Given the description of an element on the screen output the (x, y) to click on. 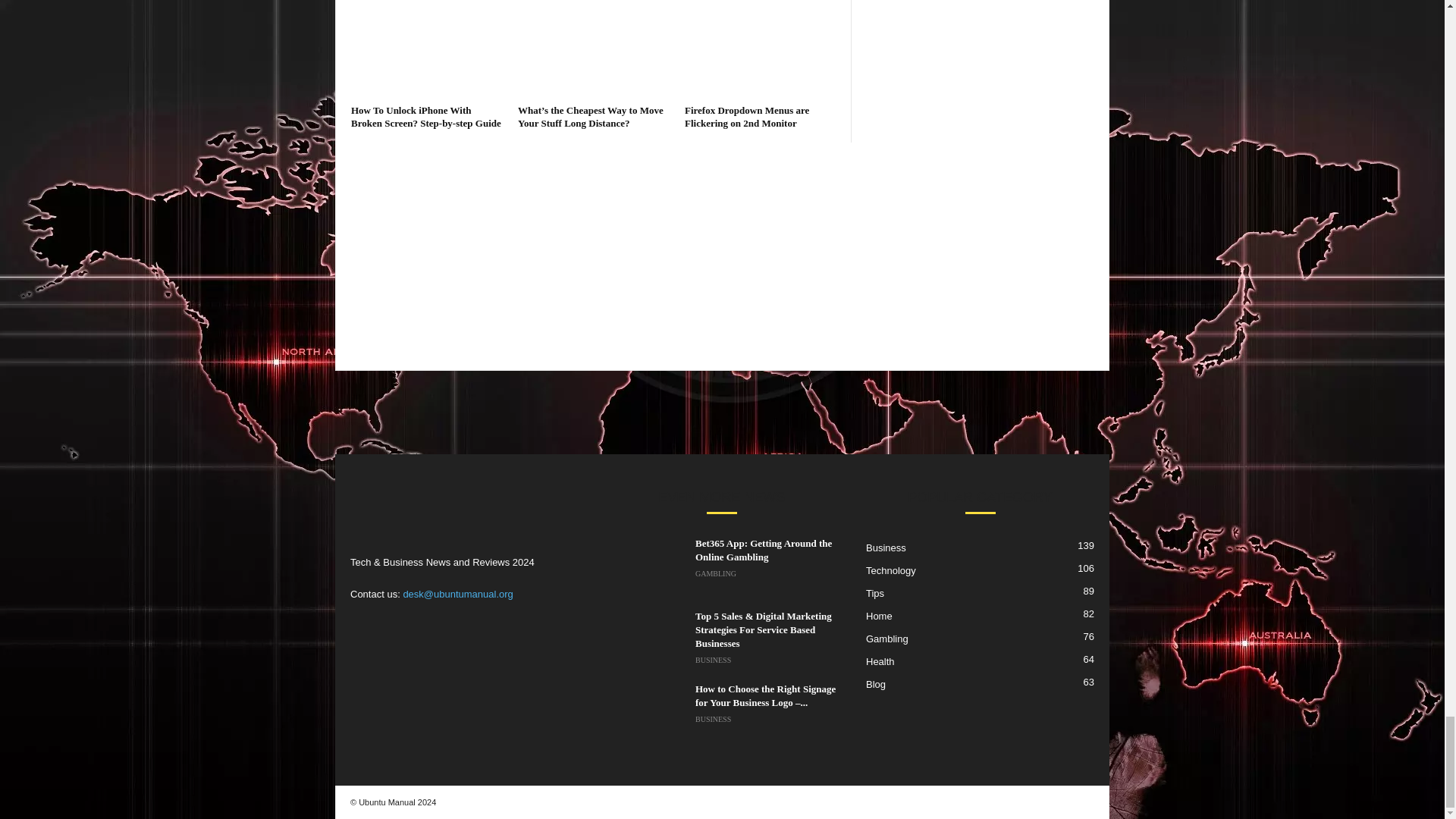
Firefox Dropdown Menus are Flickering on 2nd Monitor (759, 49)
How To Unlock iPhone With Broken Screen? Step-by-step Guide (425, 116)
How To Unlock iPhone With Broken Screen? Step-by-step Guide (426, 49)
